Given the description of an element on the screen output the (x, y) to click on. 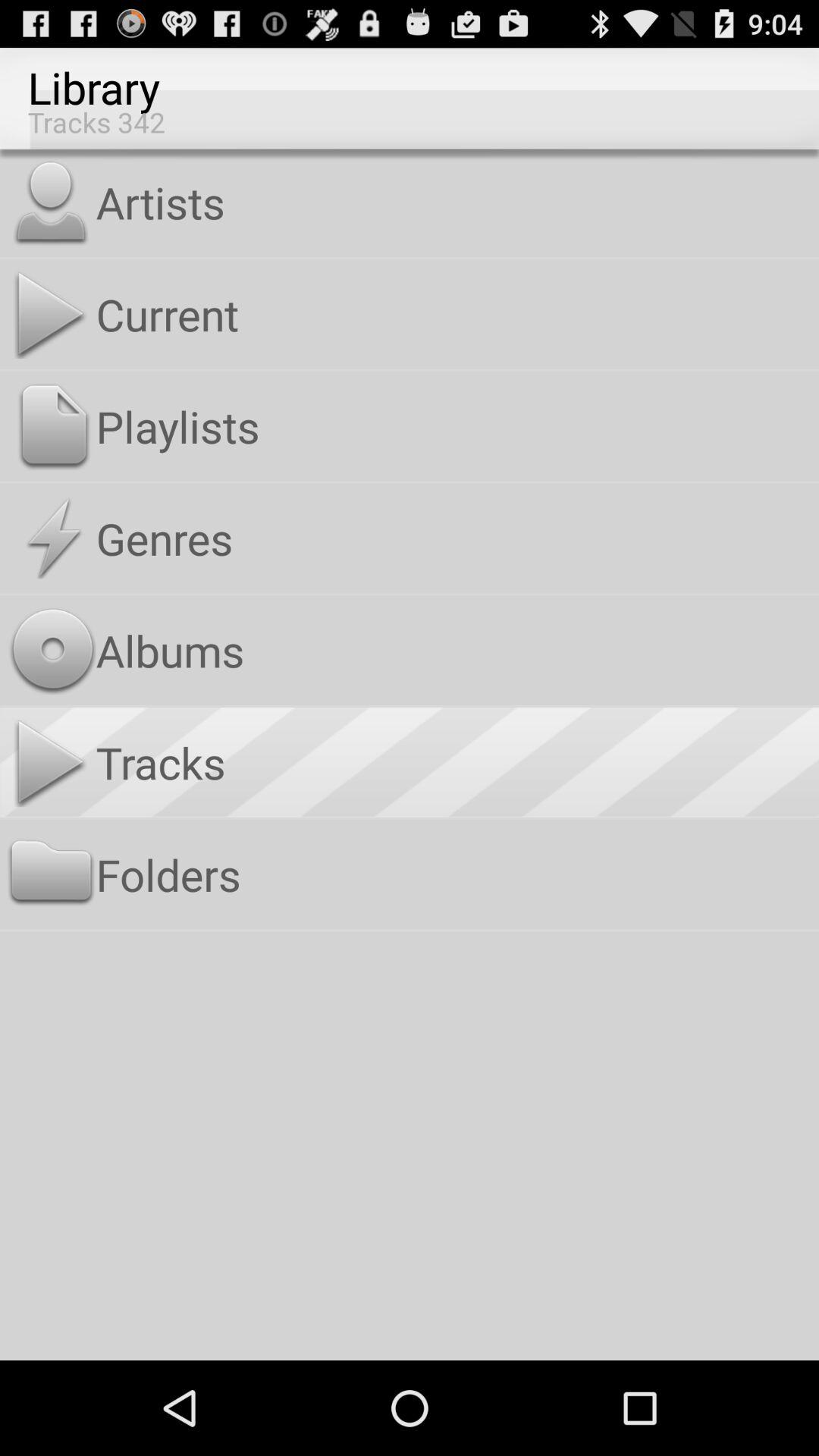
jump to the playlists (454, 425)
